Given the description of an element on the screen output the (x, y) to click on. 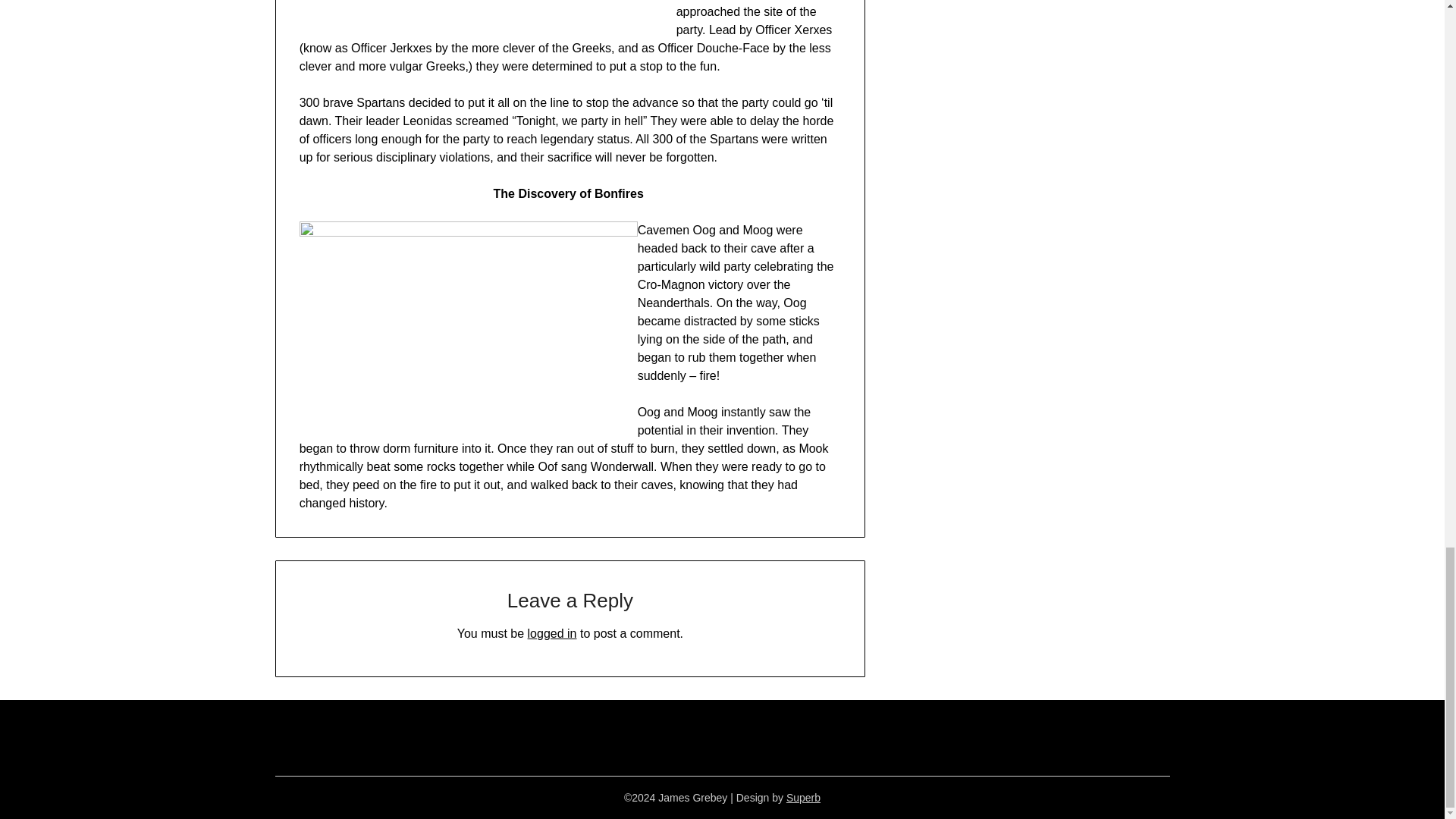
logged in (551, 633)
Superb (803, 797)
sparta (478, 18)
fire! (468, 328)
